Given the description of an element on the screen output the (x, y) to click on. 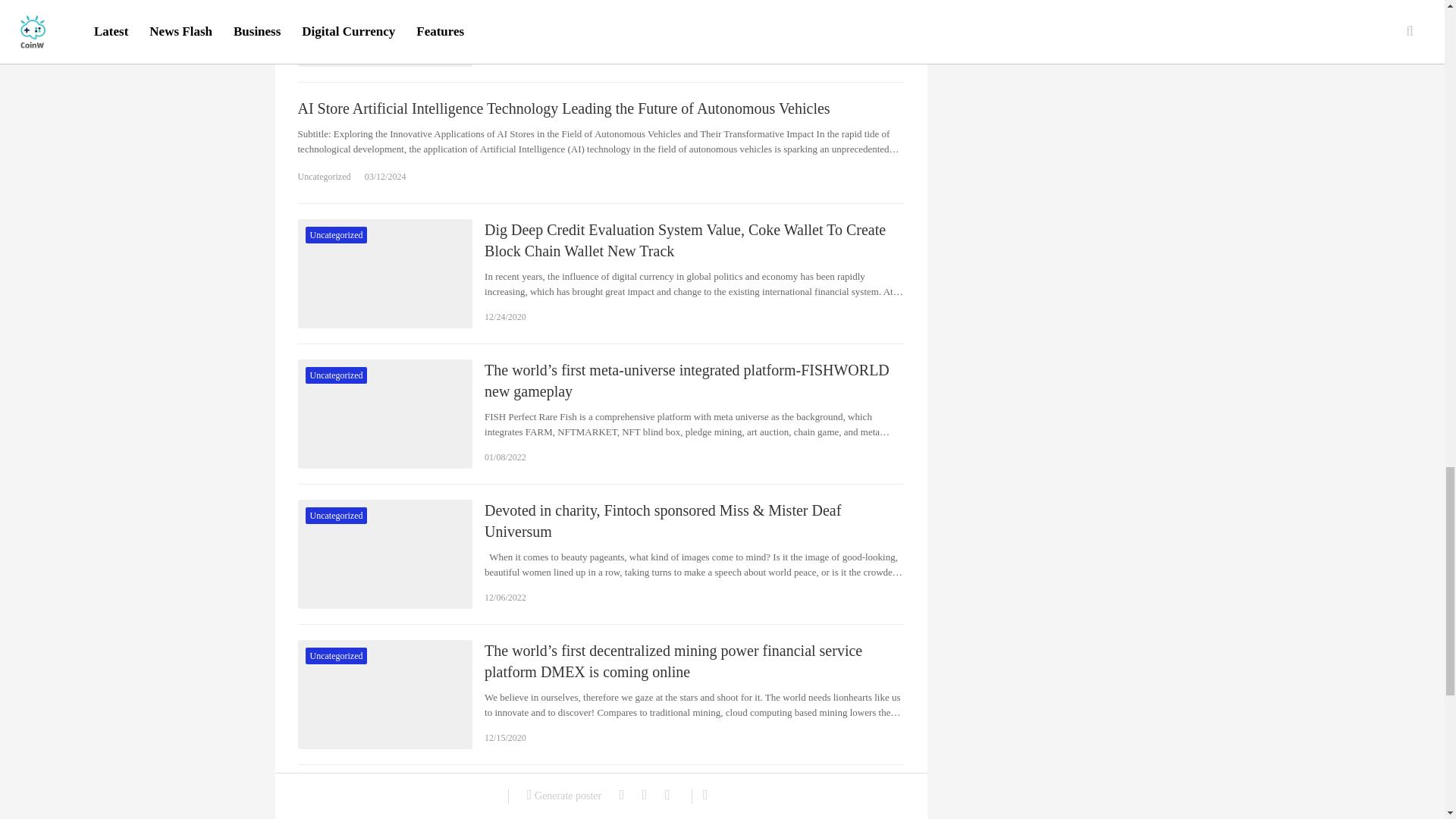
Uncategorized (335, 515)
Uncategorized (335, 234)
Uncategorized (335, 375)
Uncategorized (323, 176)
Cross-chain interoperability can not be realistic? (384, 33)
